Given the description of an element on the screen output the (x, y) to click on. 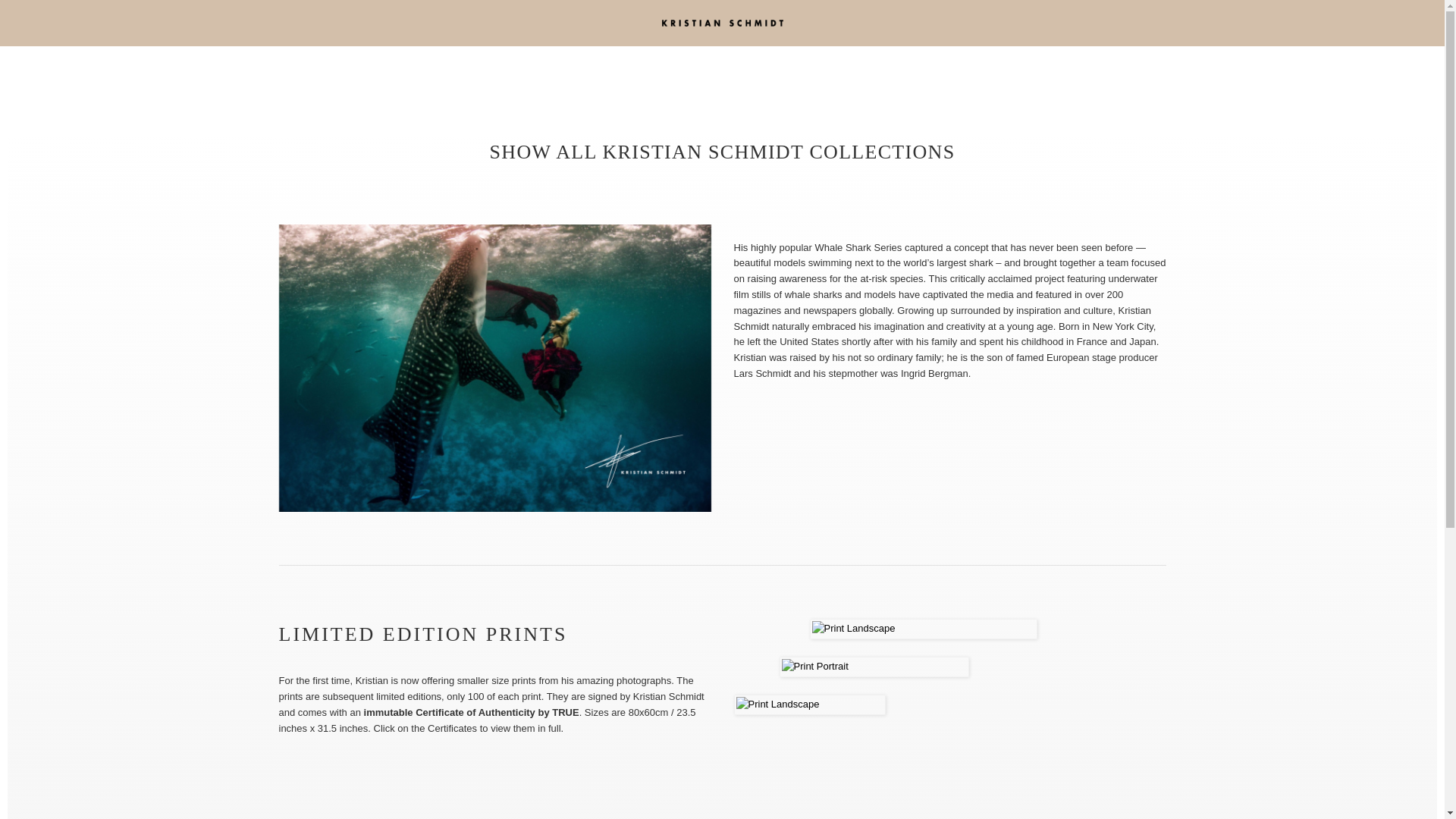
Visit TRUE (722, 782)
